Given the description of an element on the screen output the (x, y) to click on. 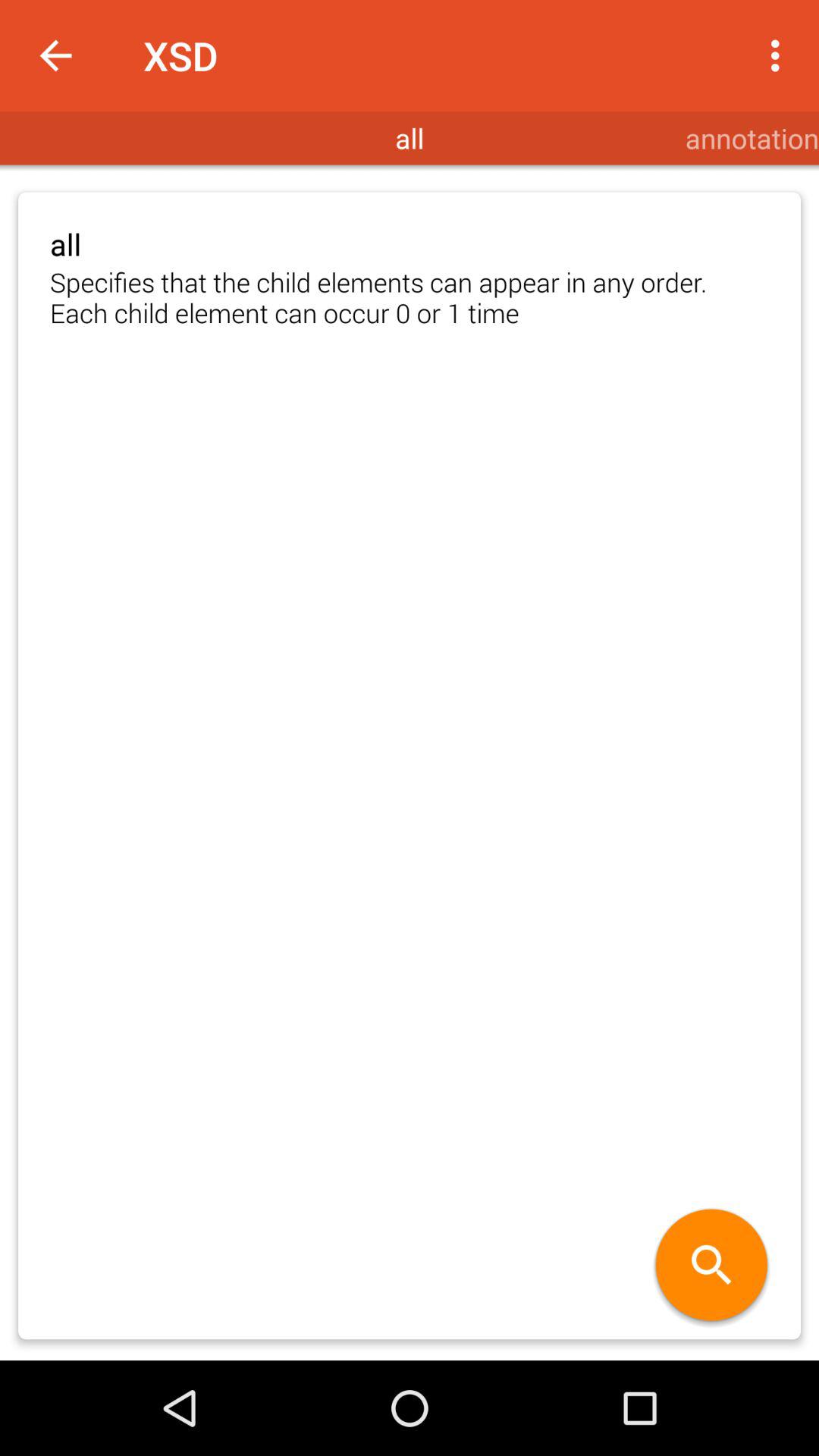
select the icon at the bottom right corner (711, 1266)
